Given the description of an element on the screen output the (x, y) to click on. 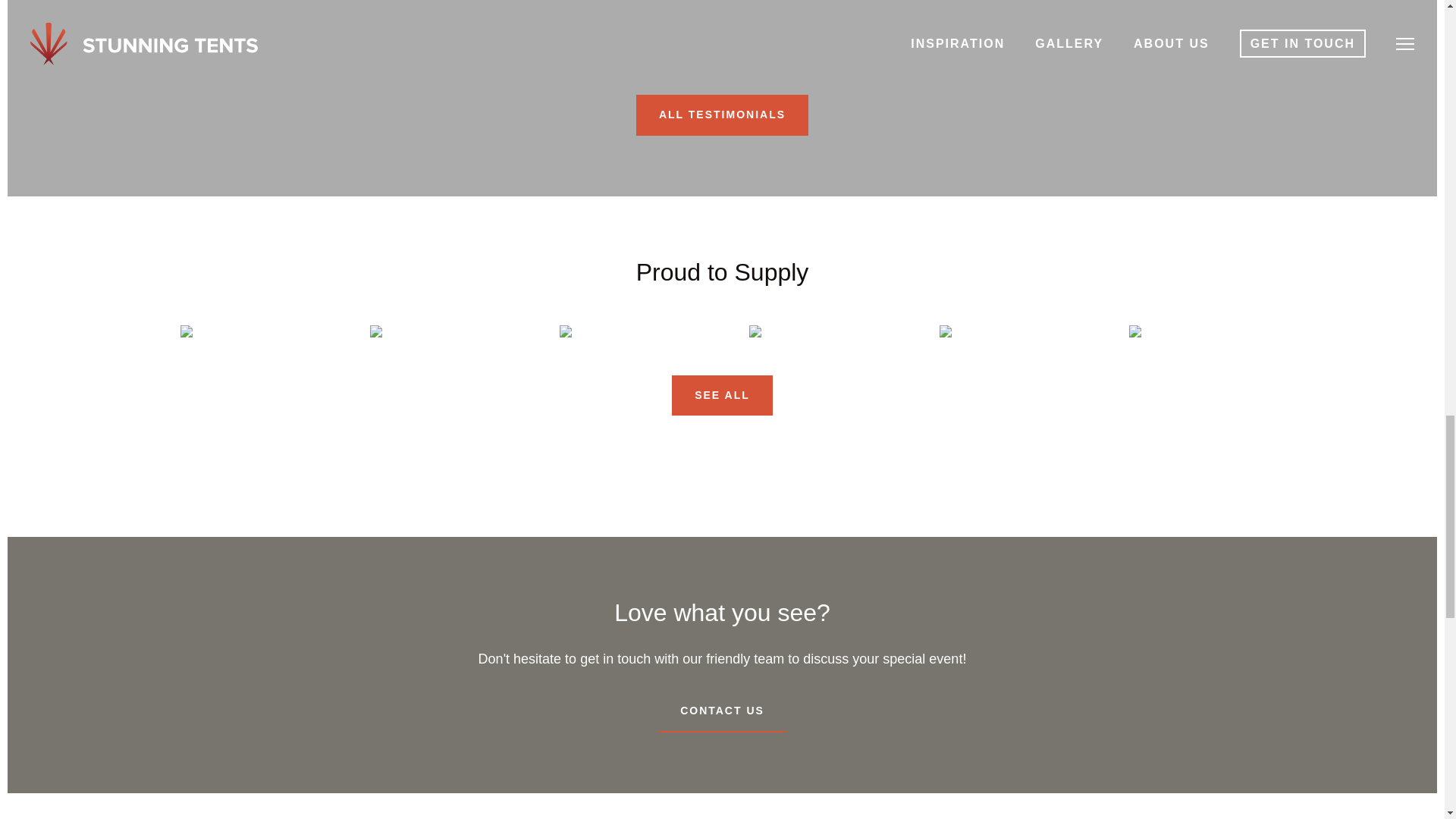
SEE ALL (722, 395)
CONTACT US (722, 712)
ALL TESTIMONIALS (722, 115)
